Given the description of an element on the screen output the (x, y) to click on. 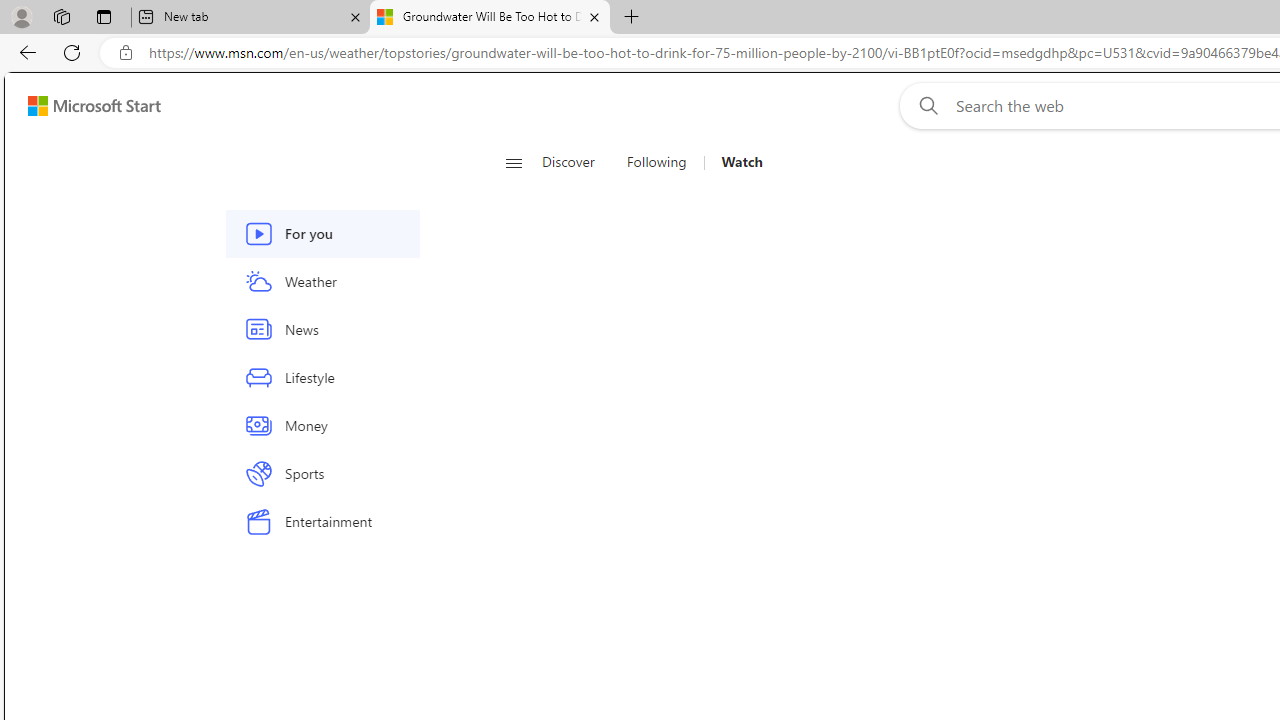
Web search (924, 105)
Class: button-glyph (513, 162)
Open navigation menu (513, 162)
Skip to content (86, 105)
